Given the description of an element on the screen output the (x, y) to click on. 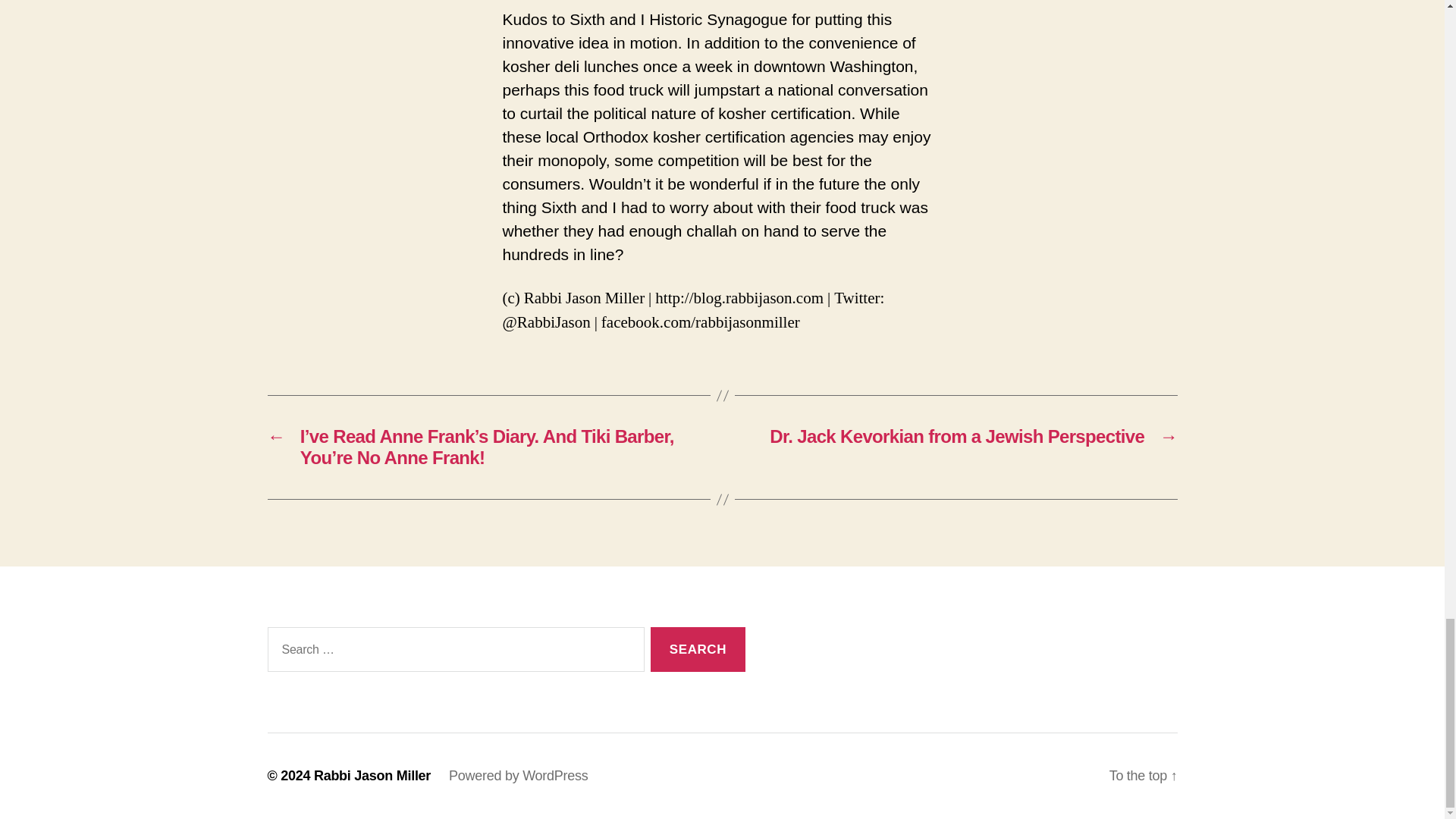
Search (697, 649)
Search (697, 649)
